Given the description of an element on the screen output the (x, y) to click on. 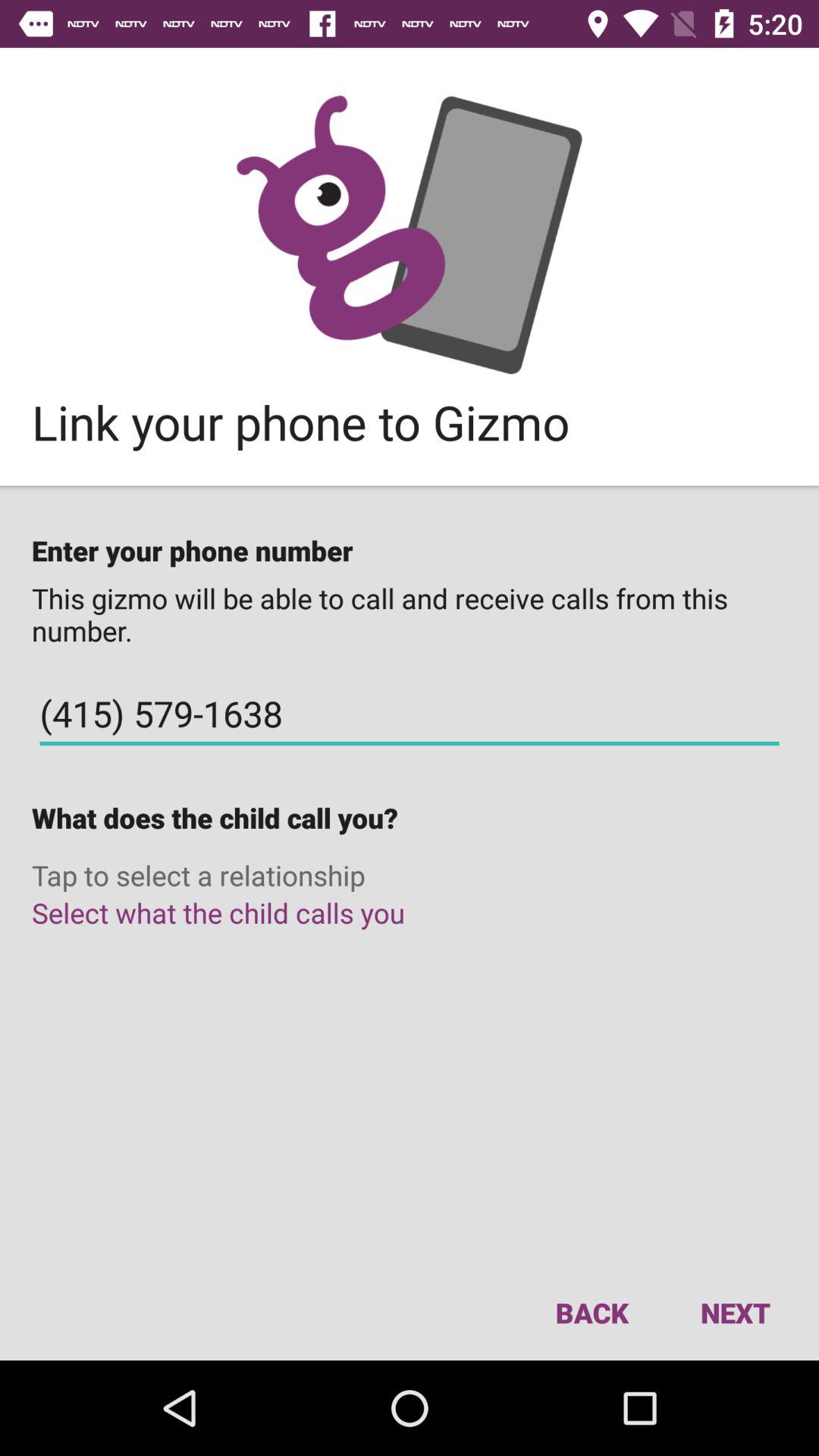
tap icon to the right of the back icon (735, 1312)
